Given the description of an element on the screen output the (x, y) to click on. 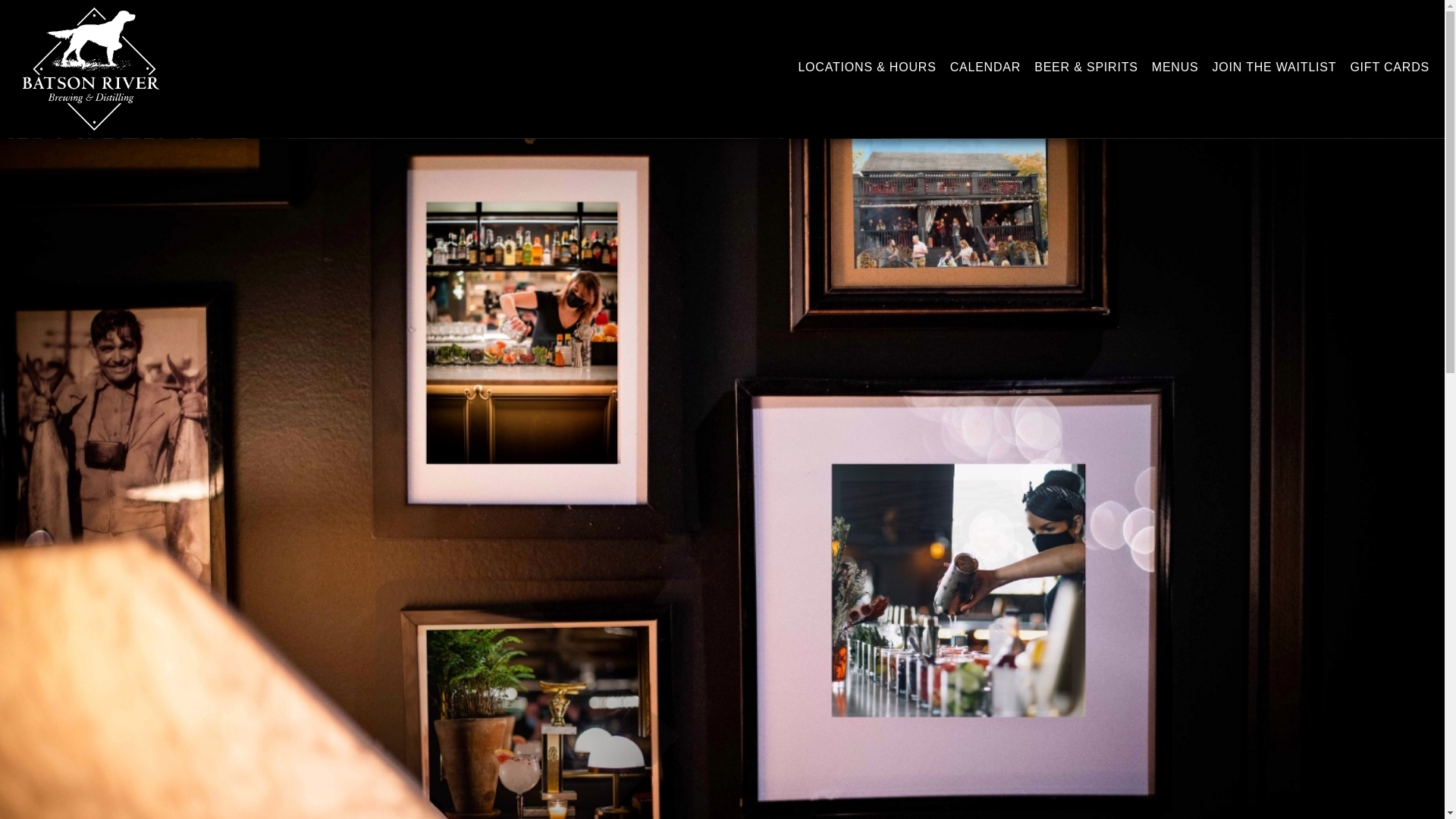
GIFT CARDS (1389, 67)
MENUS (1174, 67)
CALENDAR (986, 67)
JOIN THE WAITLIST (1274, 67)
